Given the description of an element on the screen output the (x, y) to click on. 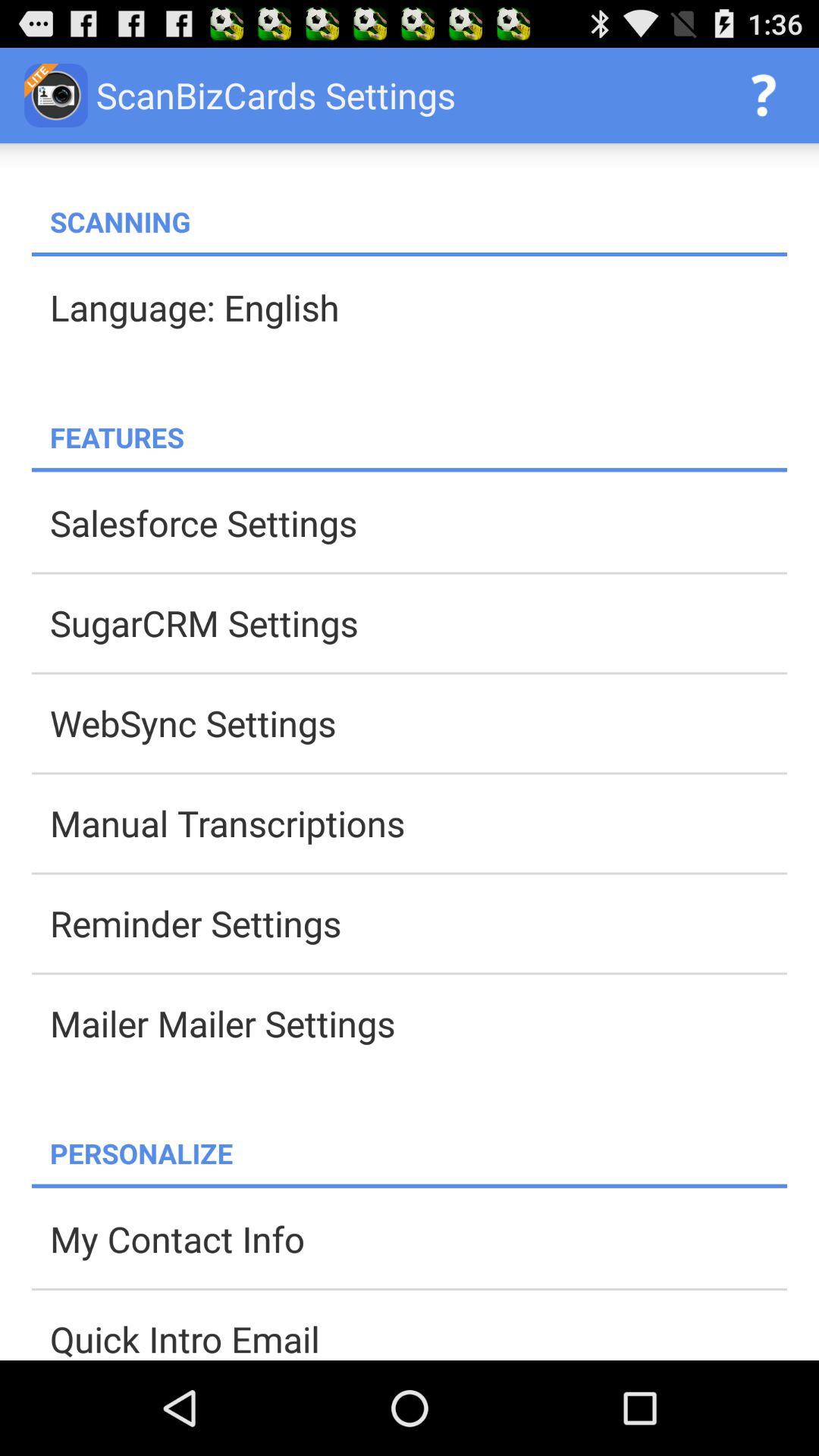
swipe to manual transcriptions (418, 823)
